Given the description of an element on the screen output the (x, y) to click on. 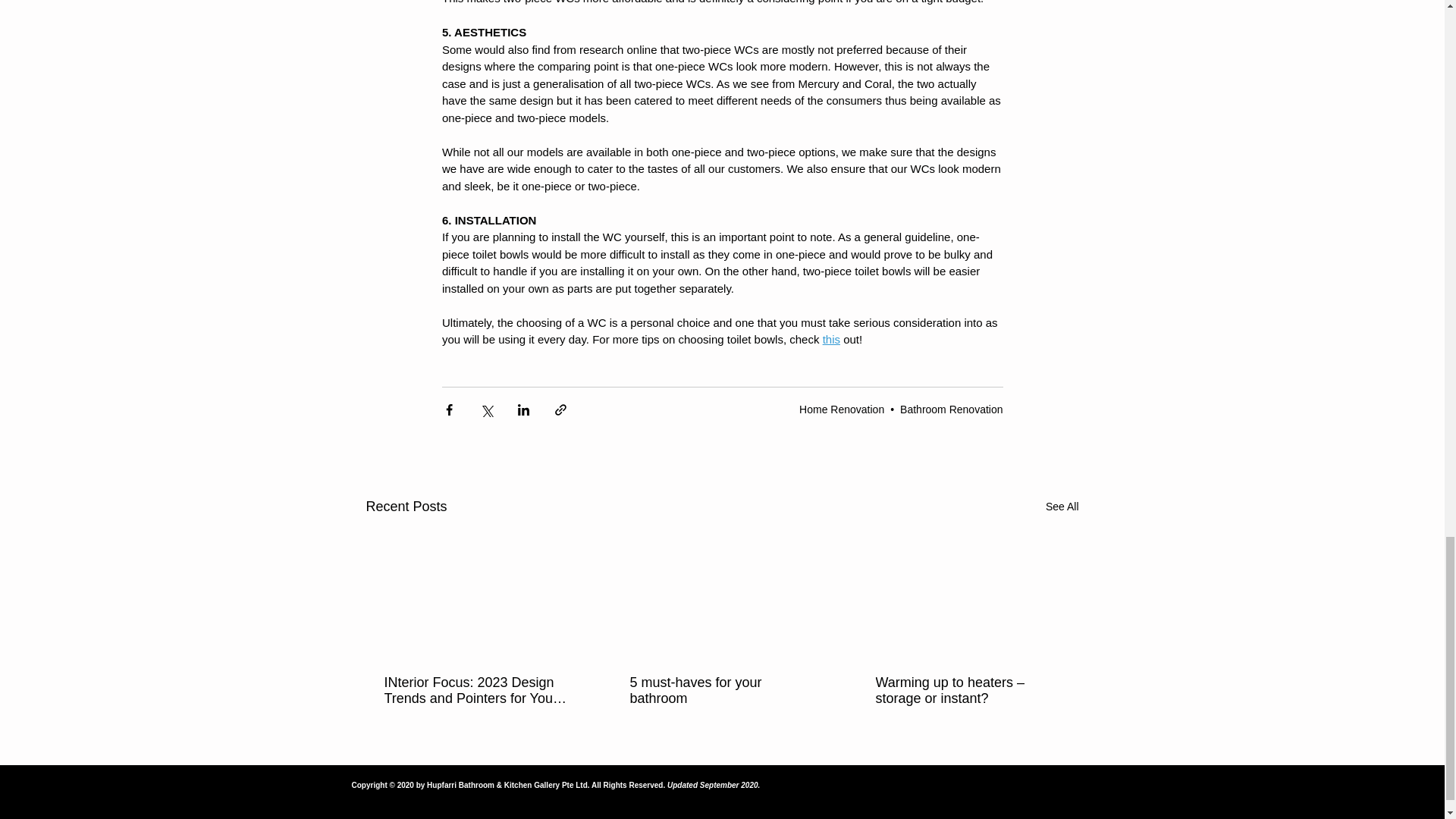
See All (1061, 506)
this (831, 338)
Bathroom Renovation (951, 409)
Home Renovation (841, 409)
